Given the description of an element on the screen output the (x, y) to click on. 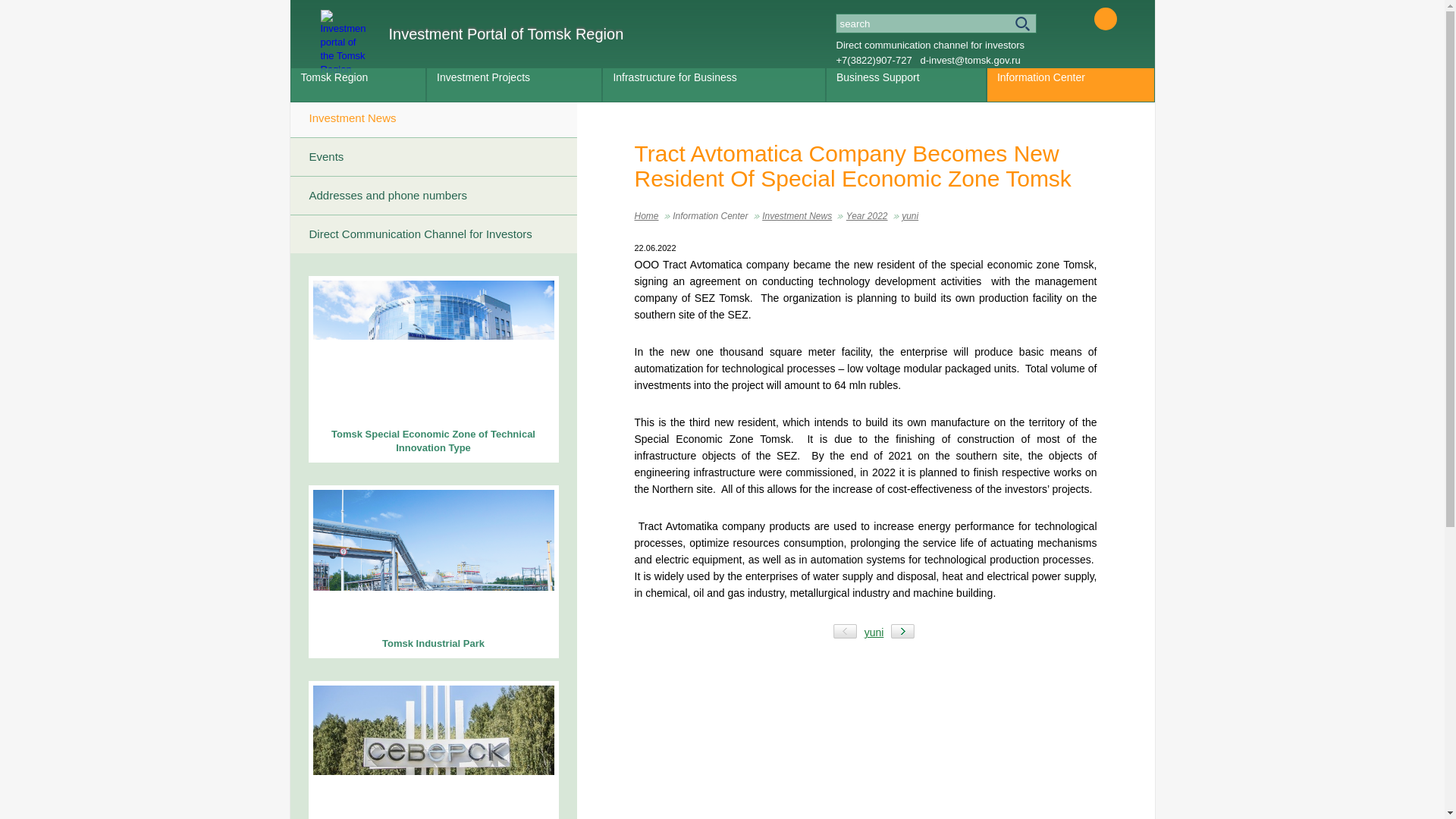
Tomsk Special Economic Zone of Technical Innovation Type (432, 369)
Direct communication channel for investors (930, 44)
Events (432, 157)
Cn (1127, 18)
Investment News (796, 215)
Addresses and phone numbers (432, 195)
Investment News (432, 118)
Direct Communication Channel for Investors (432, 234)
Search (935, 23)
Tomsk Industrial Park (432, 571)
